Given the description of an element on the screen output the (x, y) to click on. 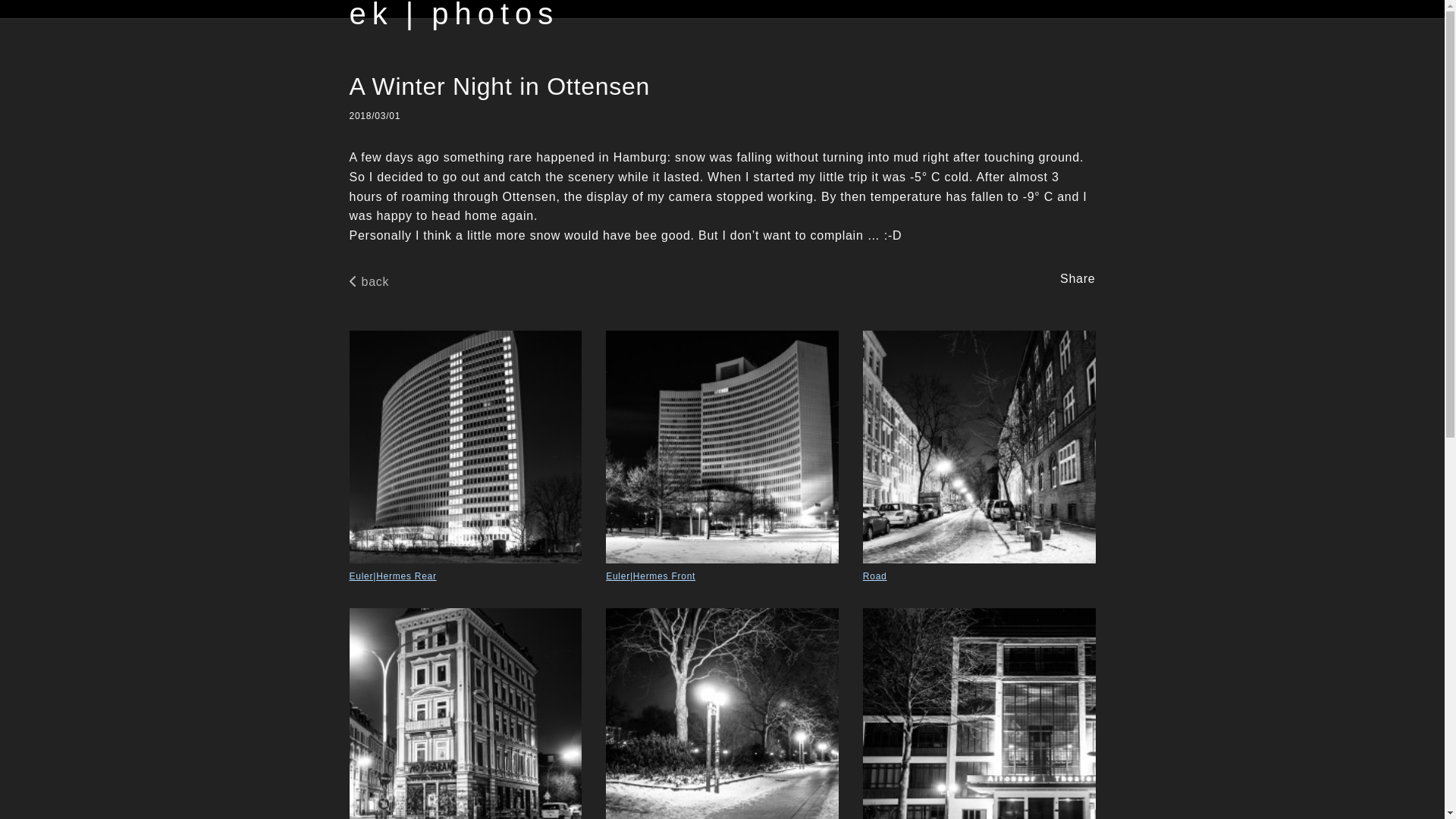
Euler|Hermes Rear Element type: text (464, 456)
back Element type: text (371, 281)
Euler|Hermes Front Element type: text (721, 456)
Road Element type: text (978, 456)
